Given the description of an element on the screen output the (x, y) to click on. 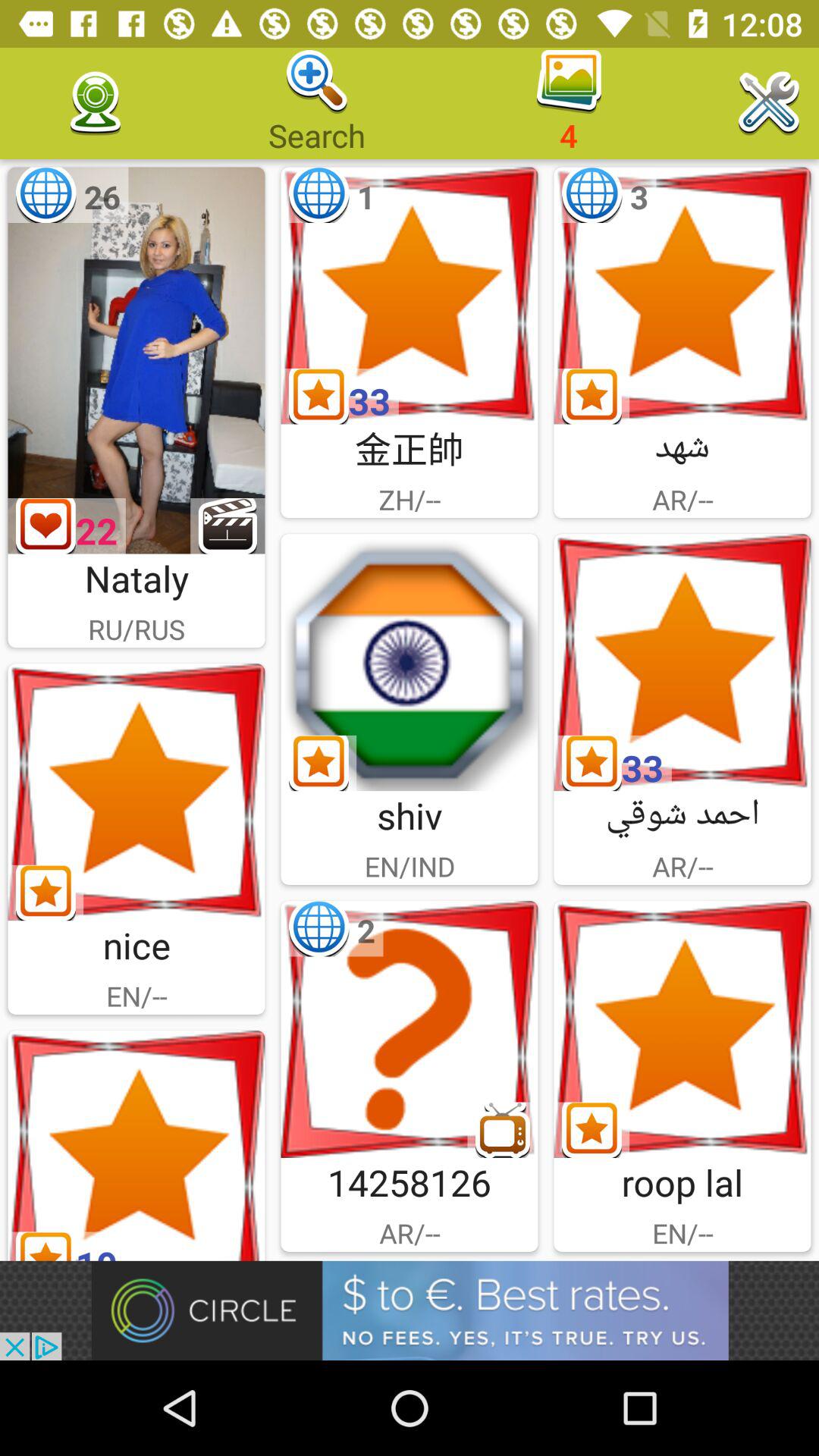
banner advertisement (409, 1310)
